Given the description of an element on the screen output the (x, y) to click on. 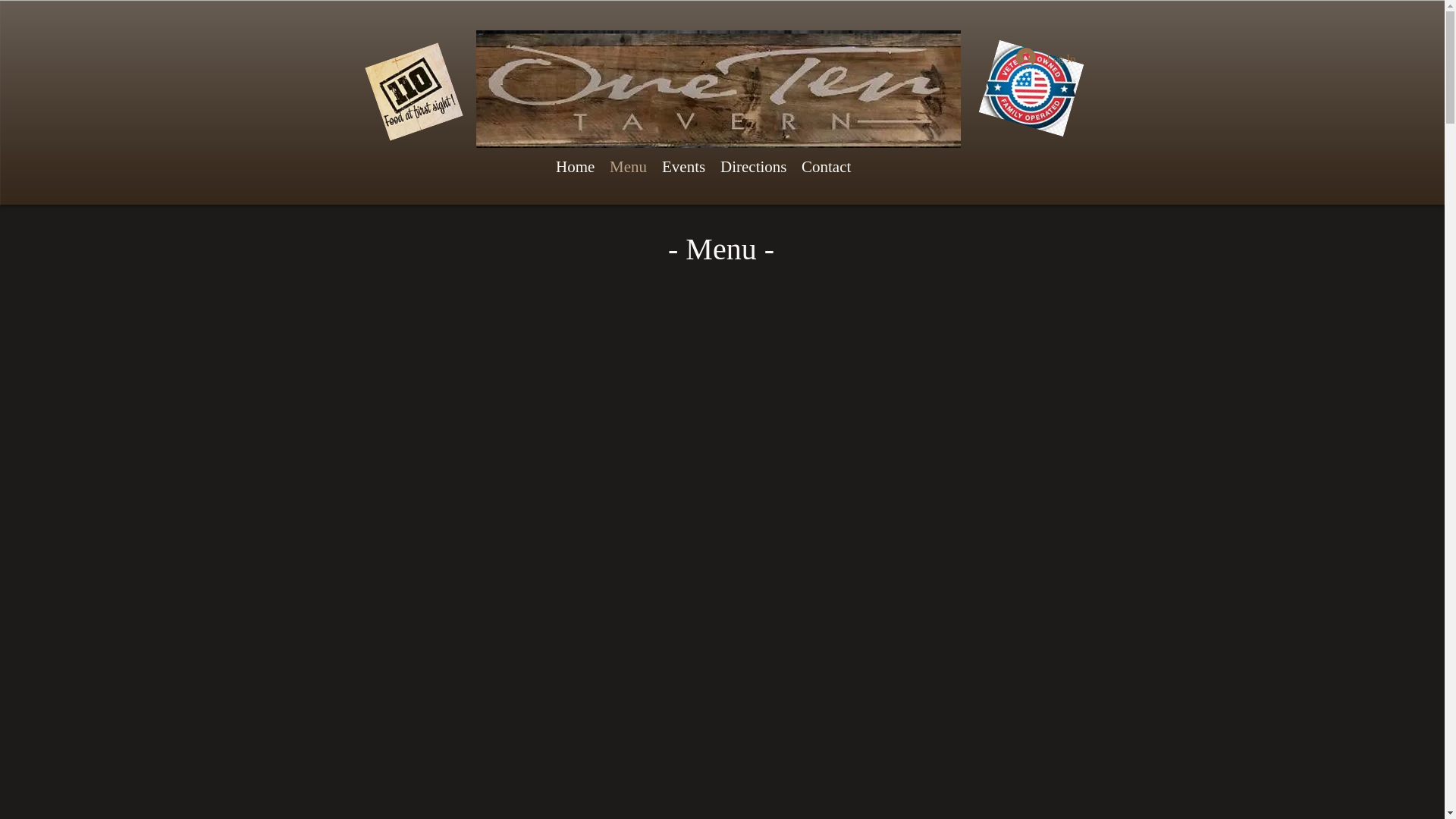
Home Element type: text (575, 166)
Events Element type: text (683, 166)
Contact Element type: text (825, 166)
OTT Logo.jpg Element type: hover (718, 88)
Directions Element type: text (752, 166)
Veteran owned.jpg Element type: hover (1022, 77)
Food At first sight.jpg Element type: hover (403, 80)
Log In Element type: text (1045, 57)
Menu Element type: text (628, 166)
